Given the description of an element on the screen output the (x, y) to click on. 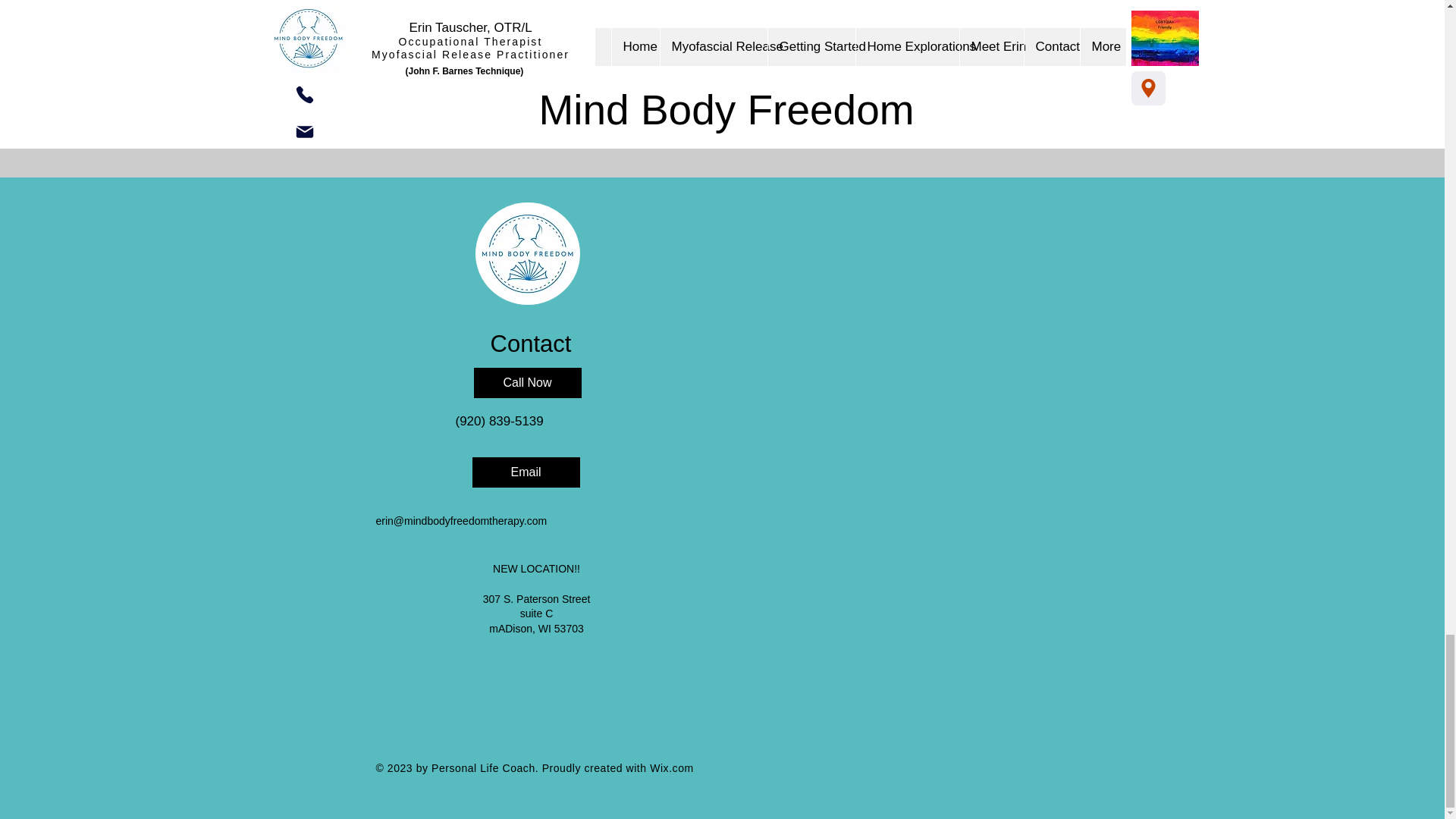
Wix.com (671, 767)
Call Now (526, 382)
Email (525, 472)
